Given the description of an element on the screen output the (x, y) to click on. 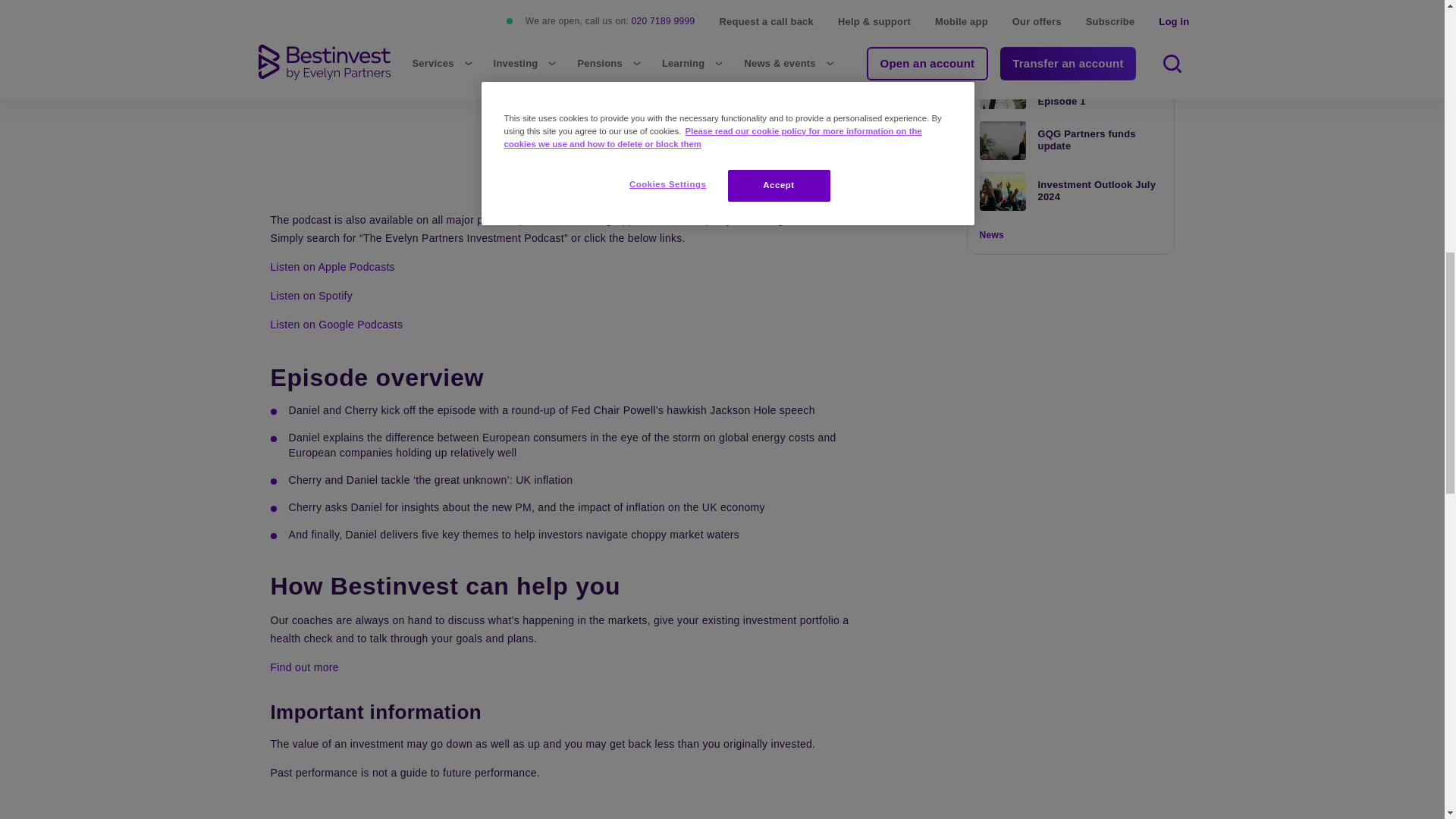
Understanding markets during an inflation shock (566, 137)
